Given the description of an element on the screen output the (x, y) to click on. 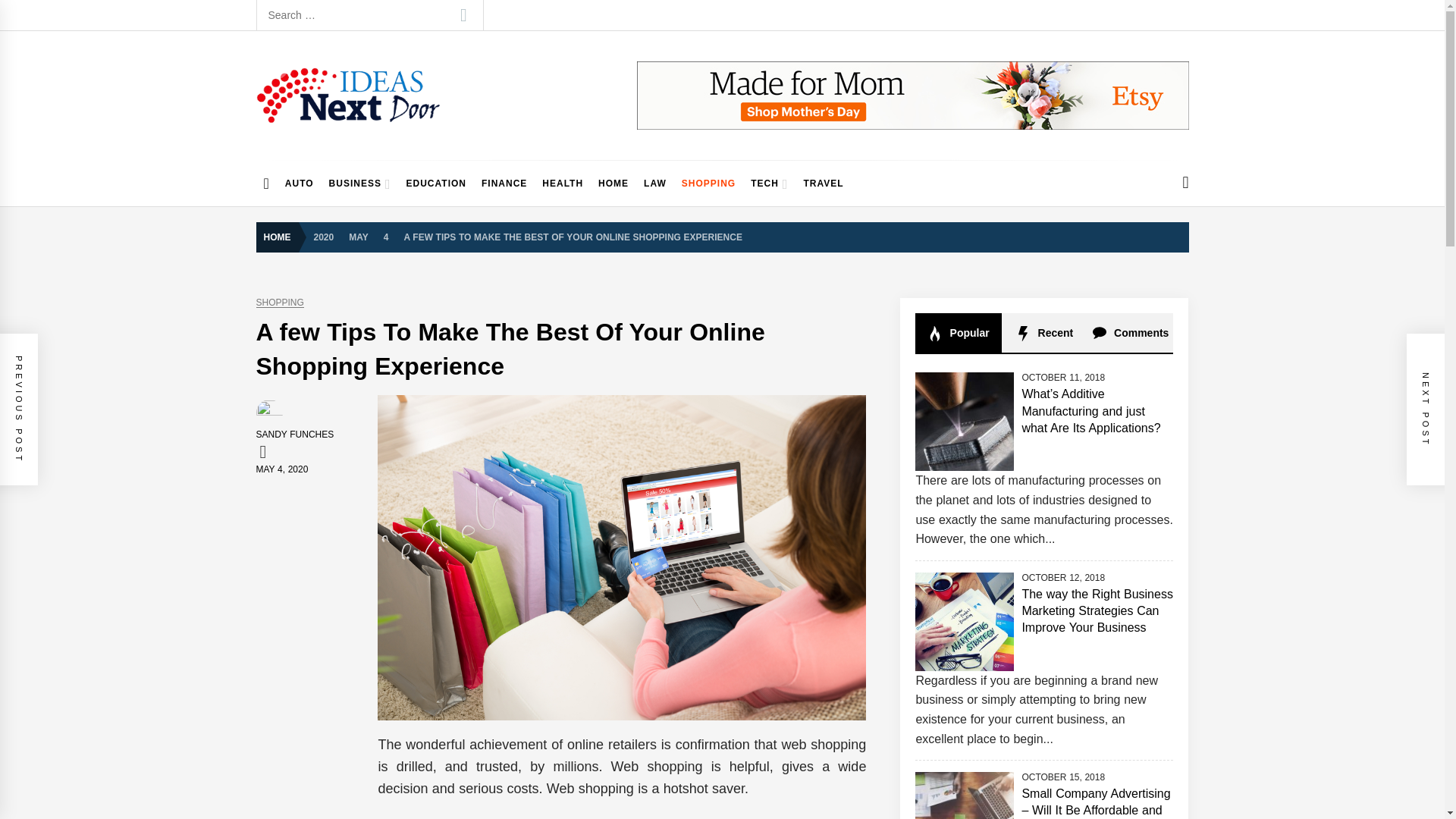
Header Advertise (913, 95)
Search (462, 15)
AUTO (299, 183)
FINANCE (504, 183)
HOME (280, 236)
TECH (768, 183)
MAY (357, 236)
Popular (958, 332)
Search (462, 15)
